Given the description of an element on the screen output the (x, y) to click on. 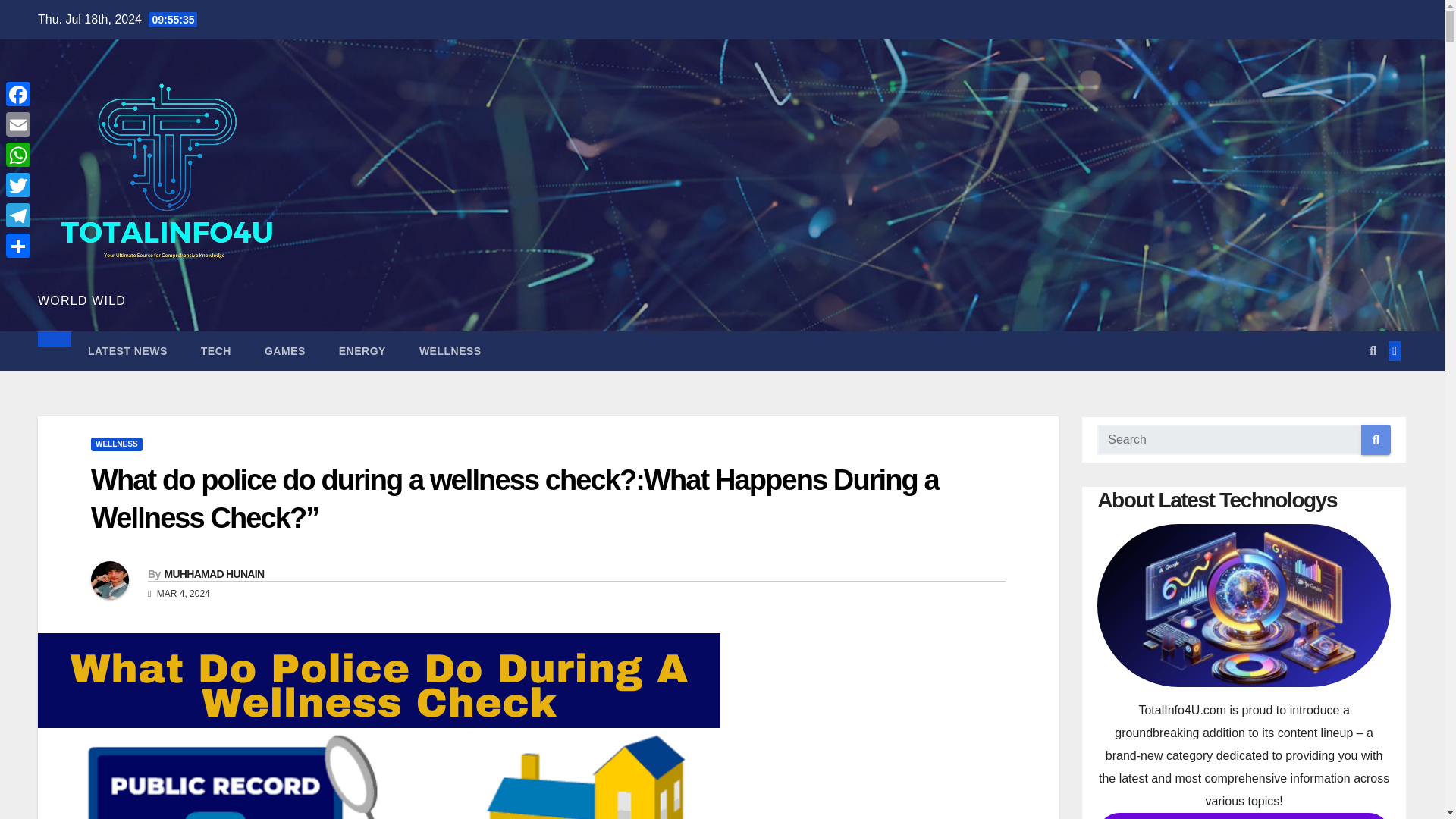
LATEST NEWS (127, 351)
ENERGY (362, 351)
TECH (215, 351)
WELLNESS (450, 351)
MUHHAMAD HUNAIN (213, 573)
GAMES (284, 351)
Latest News (127, 351)
WELLNESS (450, 351)
GAMES (284, 351)
WELLNESS (116, 444)
ENERGY (362, 351)
TECH (215, 351)
